Given the description of an element on the screen output the (x, y) to click on. 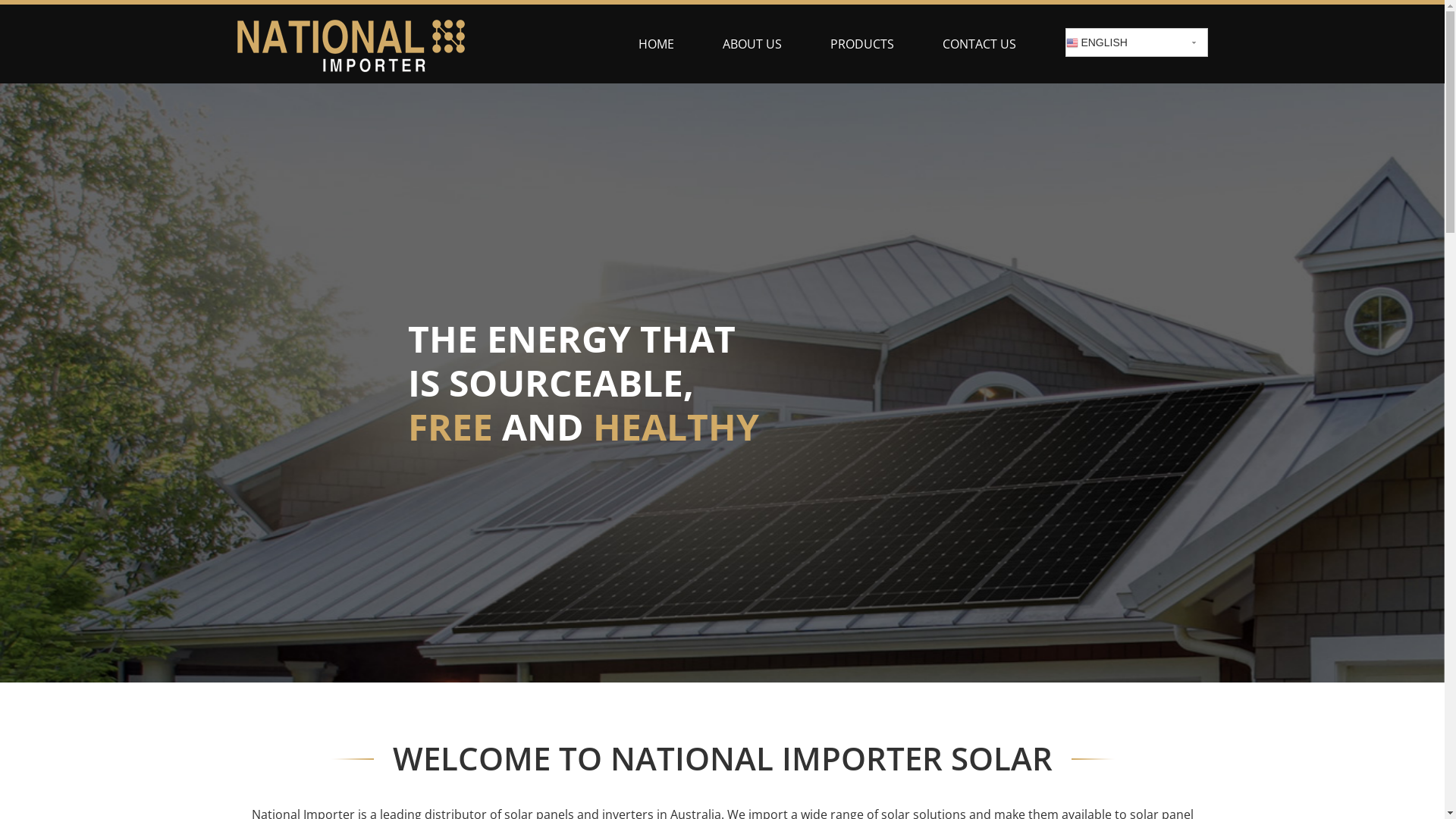
ABOUT US Element type: text (751, 42)
ENGLISH Element type: text (1135, 42)
PRODUCTS Element type: text (861, 42)
HOME Element type: text (655, 42)
CONTACT US Element type: text (978, 42)
banner2 Element type: hover (722, 382)
